Given the description of an element on the screen output the (x, y) to click on. 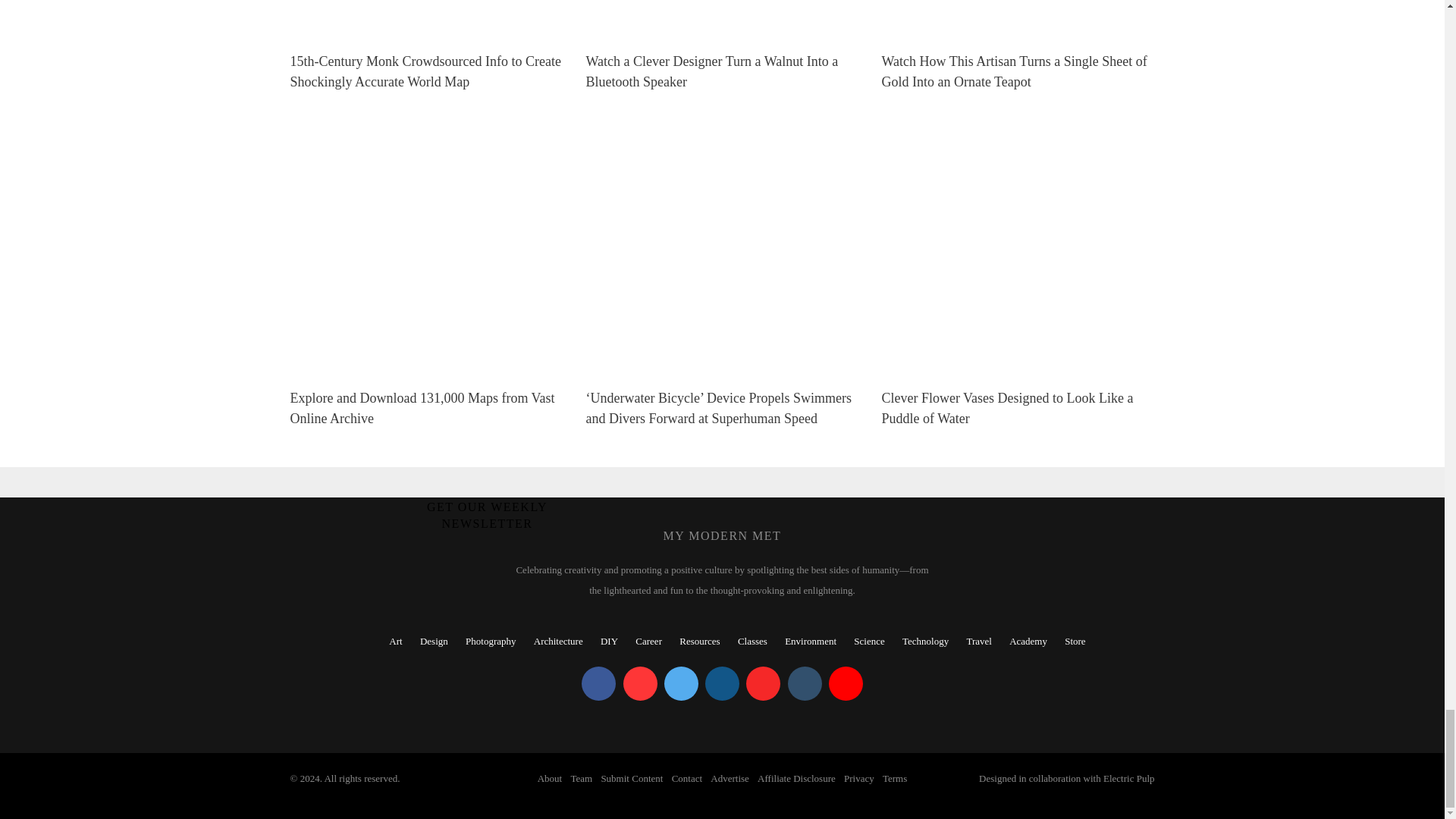
My Modern Met on Facebook (597, 683)
My Modern Met on Instagram (721, 683)
My Modern Met on Tumblr (804, 683)
My Modern Met on YouTube (845, 683)
My Modern Met on Pinterest (640, 683)
My Modern Met on Twitter (680, 683)
